Given the description of an element on the screen output the (x, y) to click on. 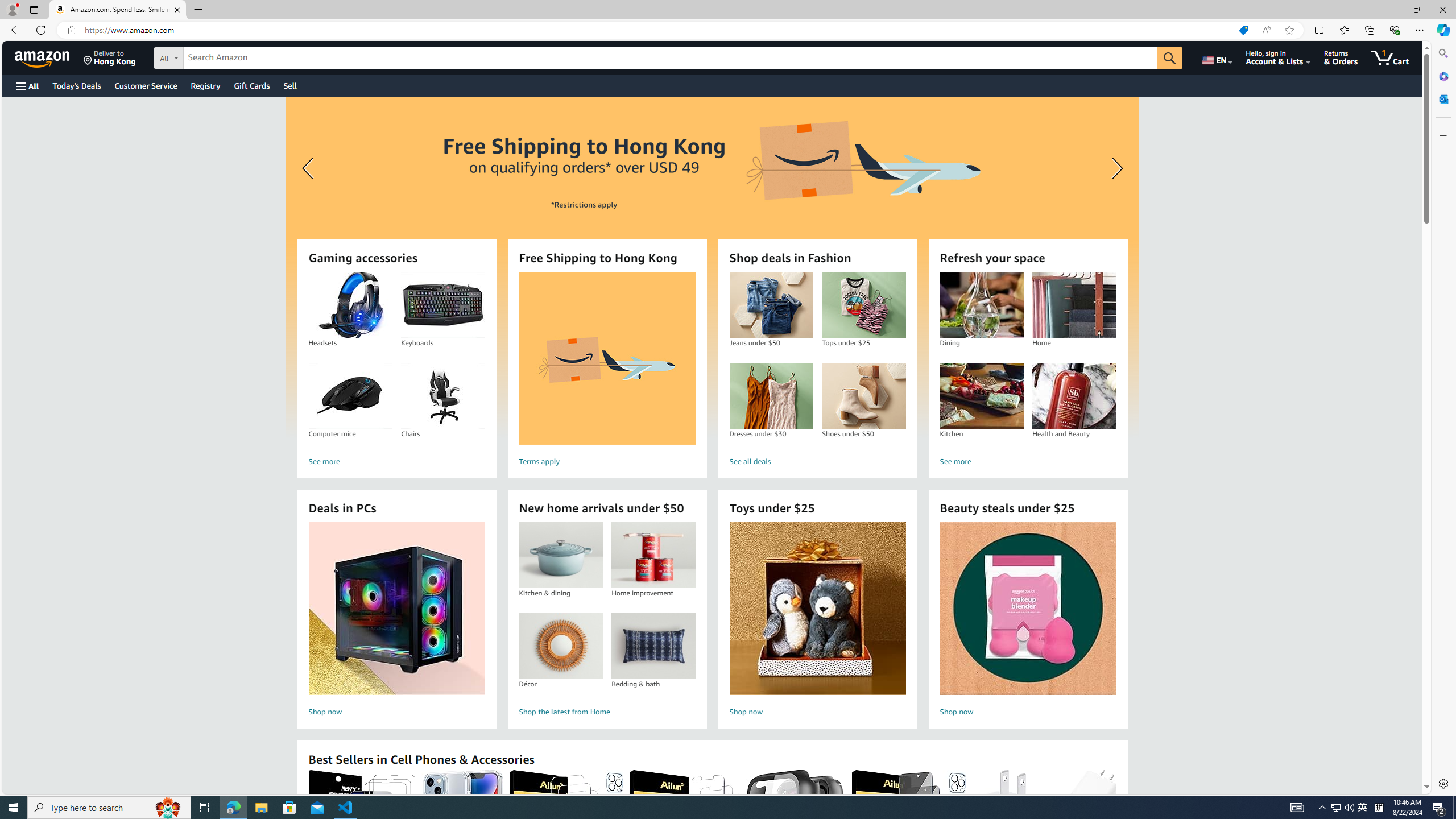
Keyboards (442, 304)
Open Menu (26, 86)
Kitchen (981, 395)
Toys under $25 Shop now (817, 620)
Kitchen (981, 395)
Customer Service (145, 85)
Choose a language for shopping. (1216, 57)
Home improvement (652, 555)
Free Shipping to Hong Kong Learn more (711, 267)
